Given the description of an element on the screen output the (x, y) to click on. 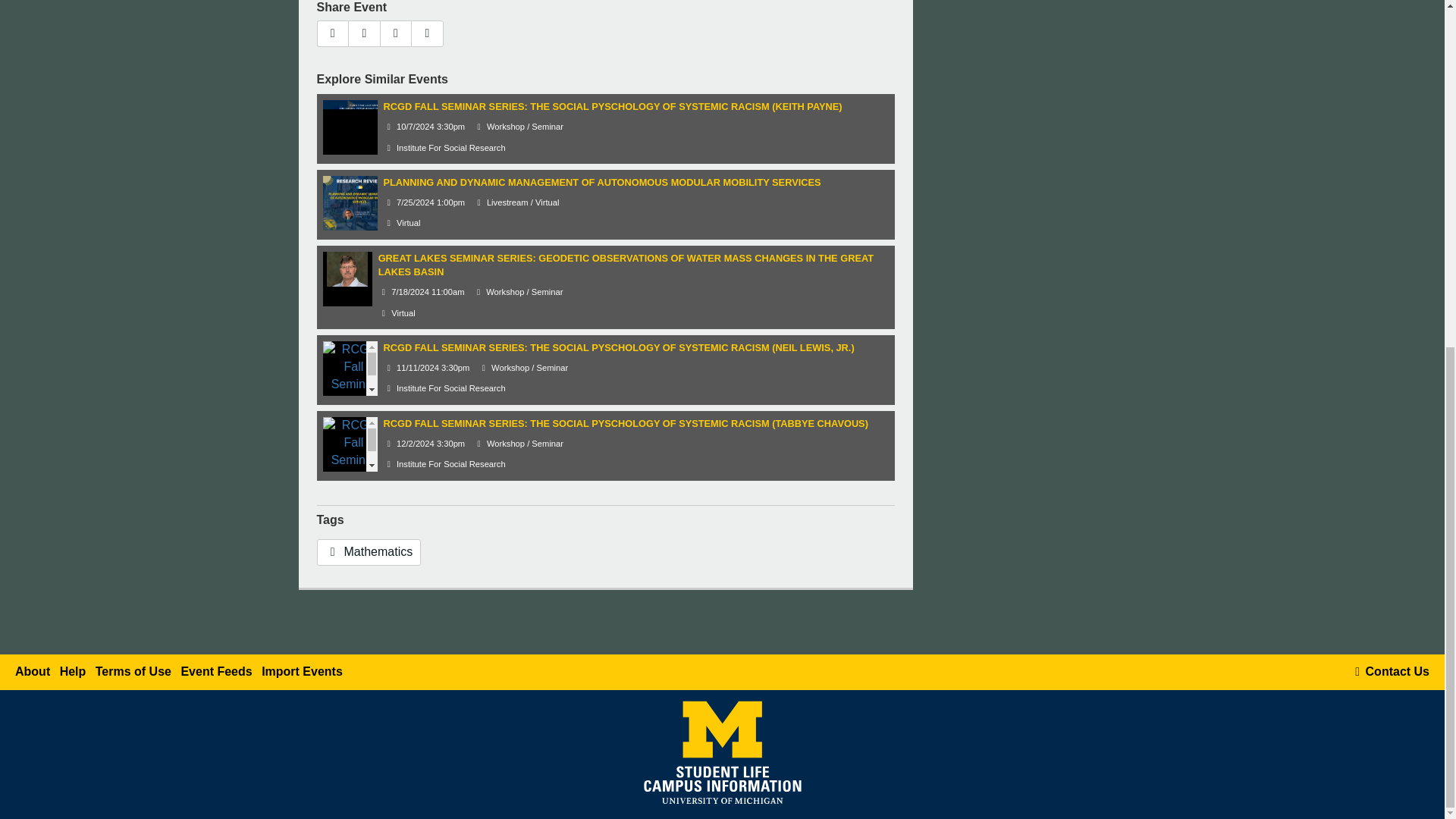
Virtual (402, 222)
Share on Linkedin (427, 33)
Institute For Social Research (444, 388)
E-mail this event (333, 33)
Virtual (396, 312)
Share on Facebook (363, 33)
Share on Tumblr (396, 33)
Institute For Social Research (444, 147)
Check out other Mathematics events (369, 551)
